Given the description of an element on the screen output the (x, y) to click on. 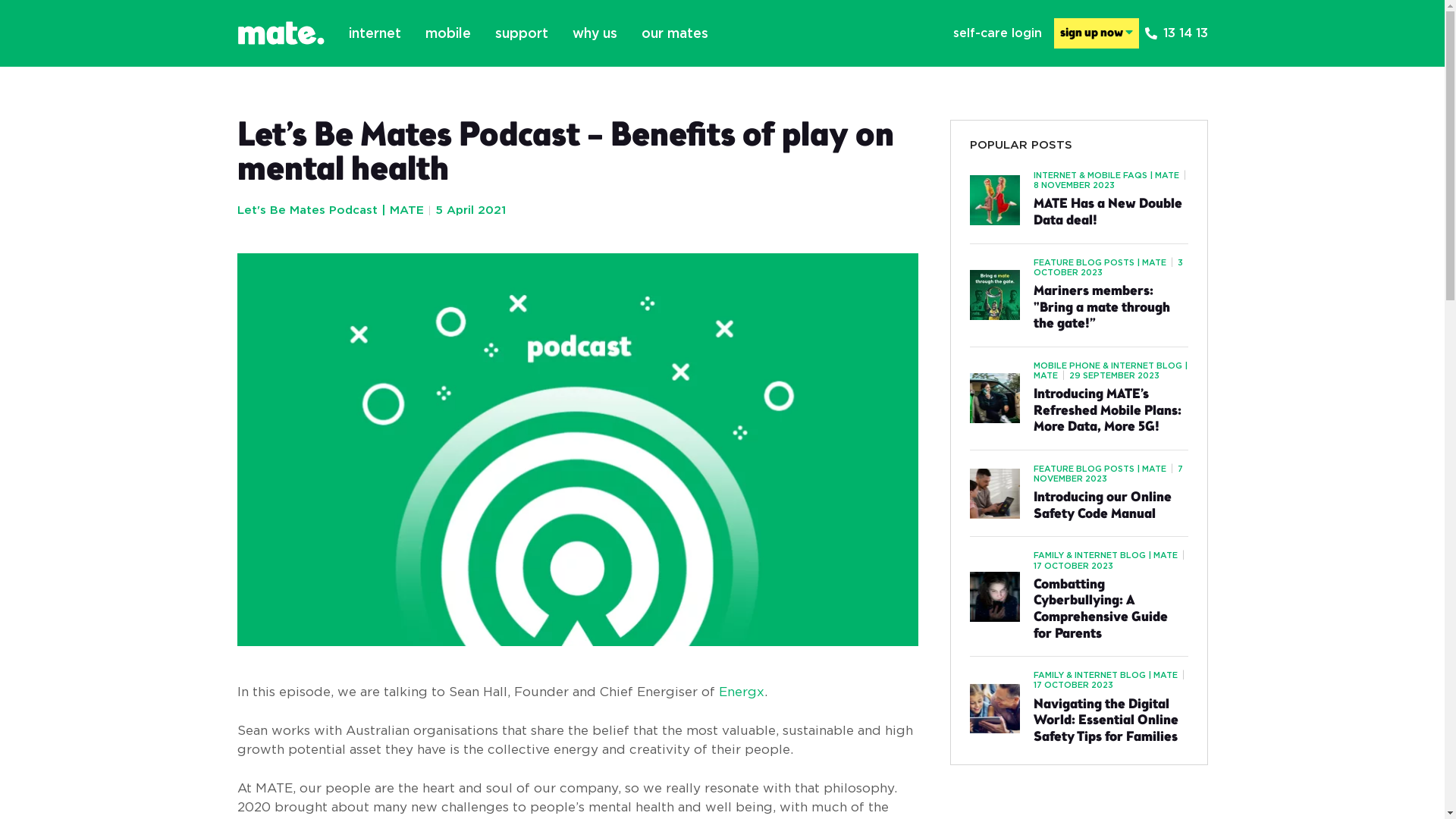
why us Element type: text (593, 33)
Combatting Cyberbullying: A Comprehensive Guide for Parents Element type: text (1109, 609)
FAMILY & INTERNET BLOG | MATE Element type: text (1104, 674)
our mates Element type: text (674, 33)
self-care login Element type: text (996, 33)
13 14 13 Element type: text (1176, 33)
Introducing our Online Safety Code Manual Element type: text (1109, 505)
internet Element type: text (374, 33)
FEATURE BLOG POSTS | MATE Element type: text (1098, 468)
INTERNET & MOBILE FAQS | MATE Element type: text (1105, 174)
sign up now Element type: text (1096, 33)
MOBILE PHONE & INTERNET BLOG | MATE Element type: text (1109, 370)
Energx Element type: text (741, 691)
MATE Has a New Double Data deal! Element type: text (1109, 212)
FEATURE BLOG POSTS | MATE Element type: text (1098, 262)
Let's Be Mates Podcast | MATE Element type: text (329, 209)
mobile Element type: text (447, 33)
support Element type: text (520, 33)
FAMILY & INTERNET BLOG | MATE Element type: text (1104, 554)
